Given the description of an element on the screen output the (x, y) to click on. 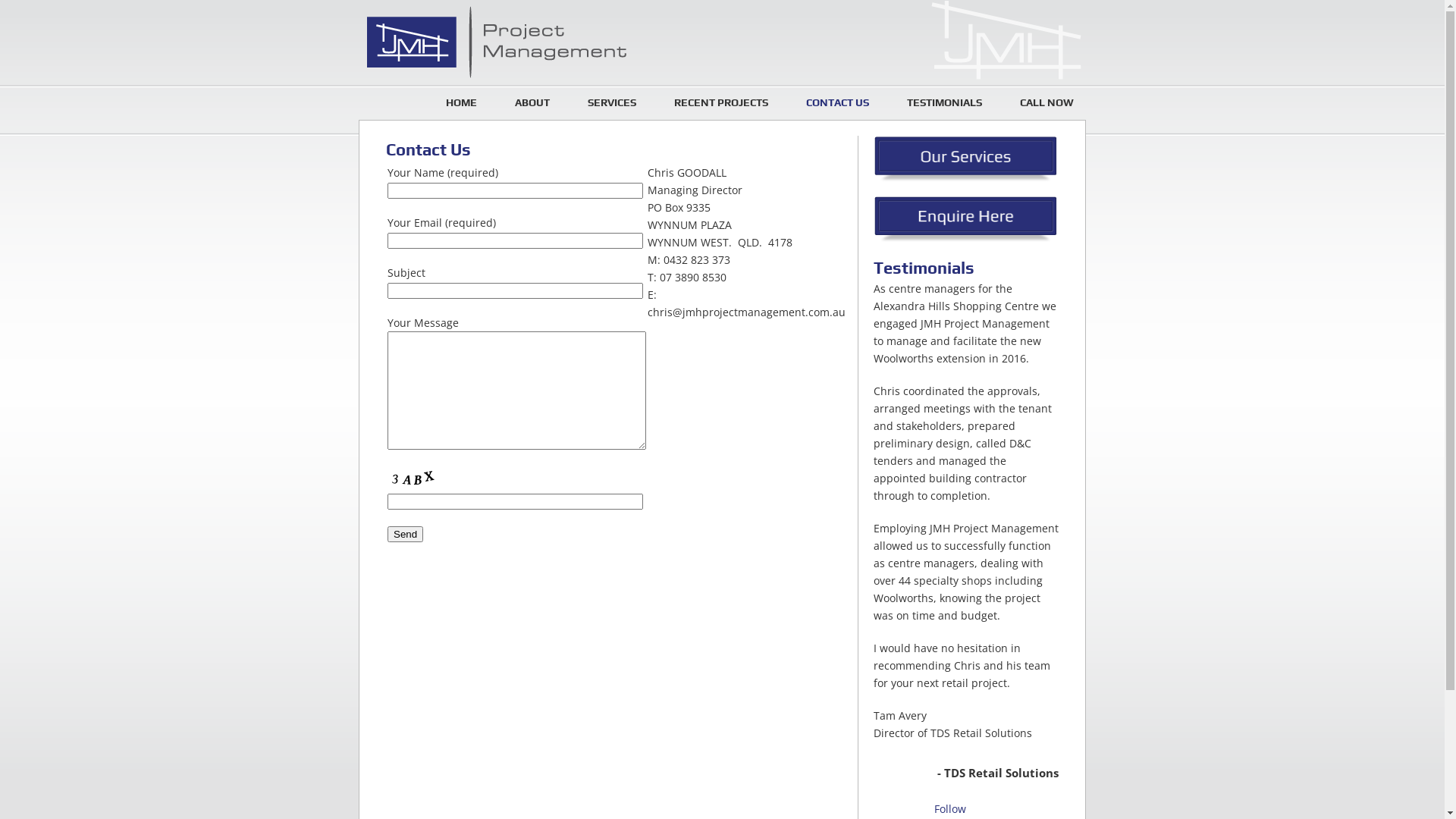
Enquire Here Element type: hover (965, 219)
CONTACT US Element type: text (837, 101)
ABOUT Element type: text (532, 101)
Our Services Element type: hover (965, 159)
JMH Project Management Element type: text (510, 42)
CALL NOW Element type: text (1046, 101)
TESTIMONIALS Element type: text (944, 101)
RECENT PROJECTS Element type: text (720, 101)
SERVICES Element type: text (611, 101)
HOME Element type: text (461, 101)
Send Element type: text (405, 534)
